Given the description of an element on the screen output the (x, y) to click on. 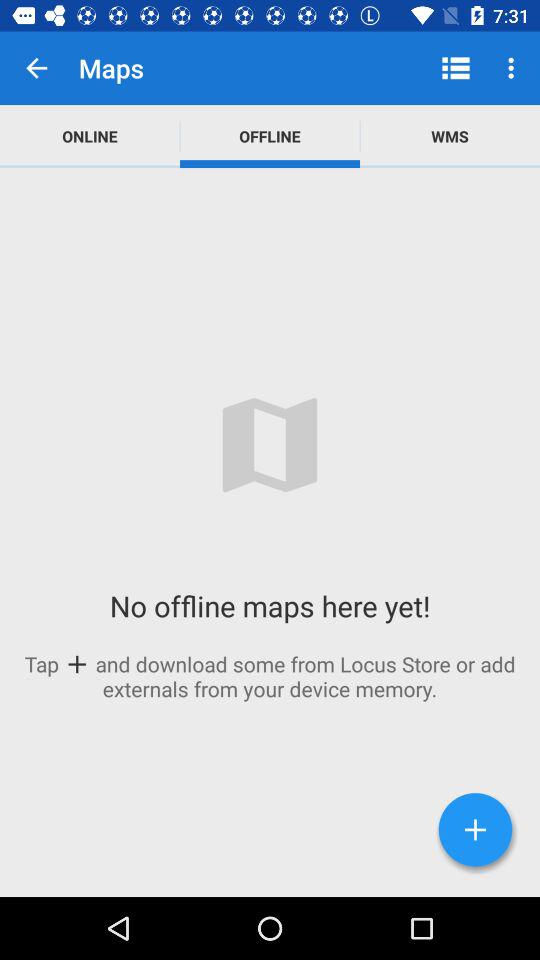
choose online item (90, 136)
